Given the description of an element on the screen output the (x, y) to click on. 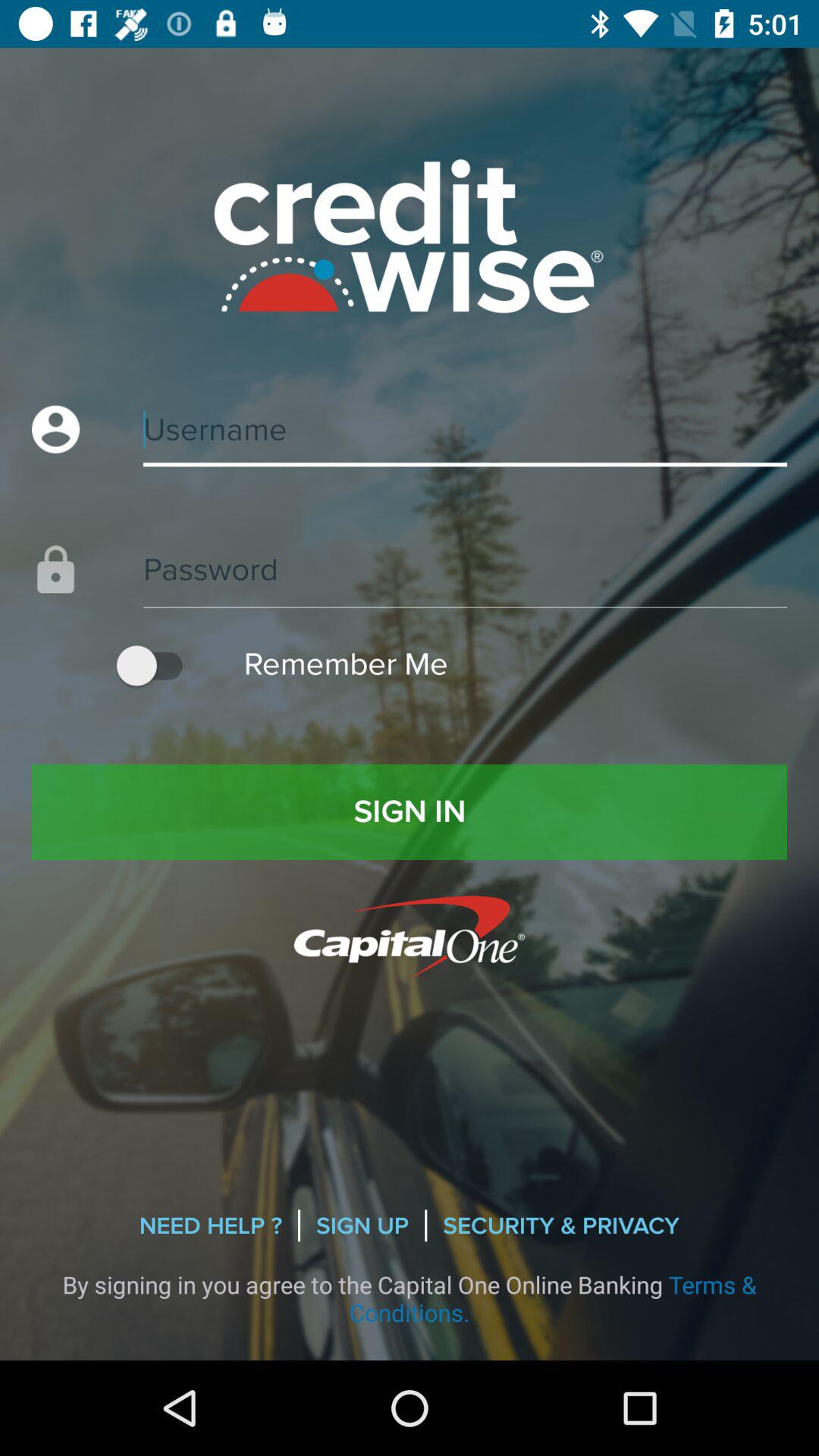
turn on the sign in icon (409, 811)
